Given the description of an element on the screen output the (x, y) to click on. 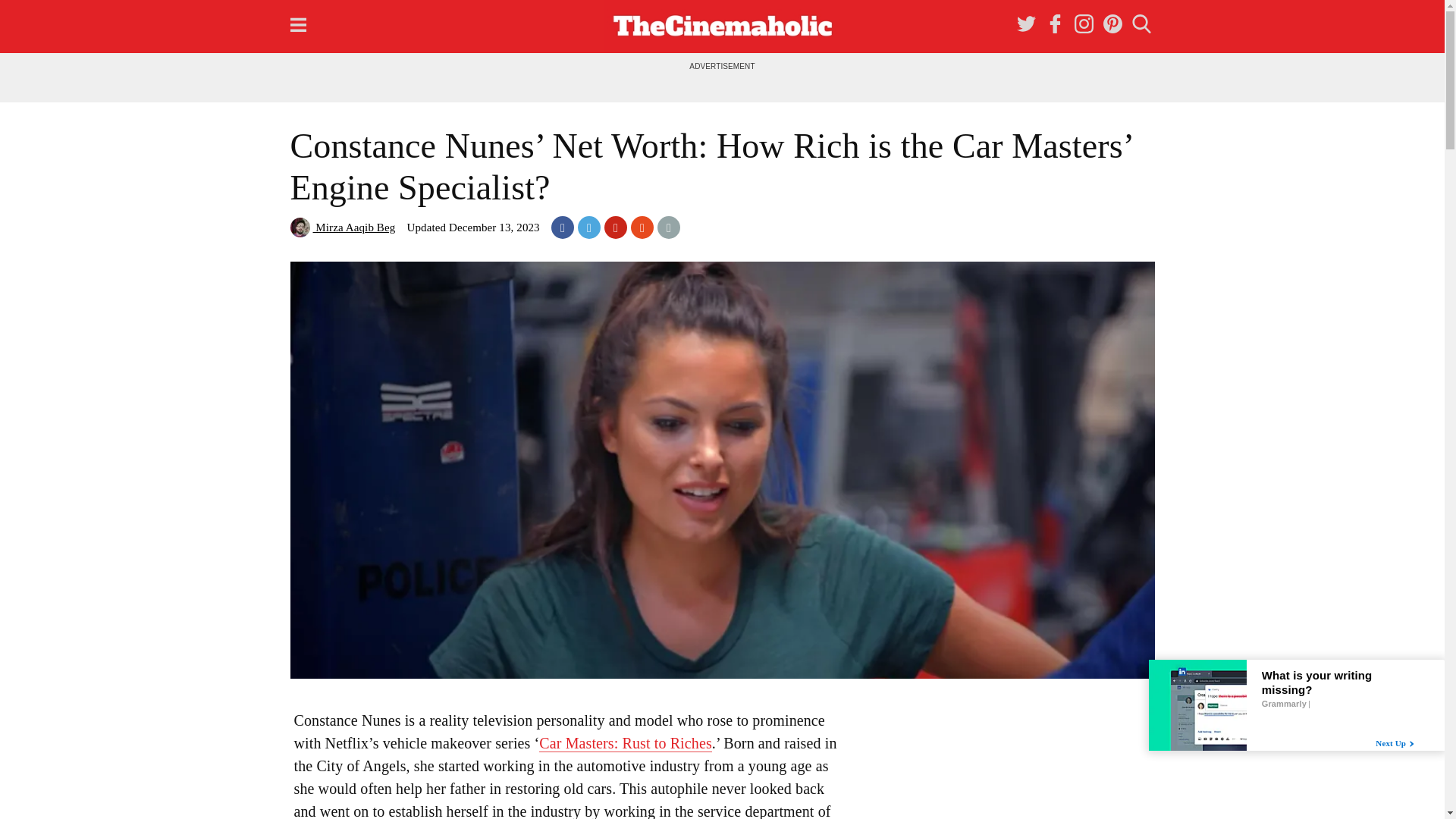
Mirza Aaqib Beg (341, 227)
Car Masters: Rust to Riches (624, 743)
